Given the description of an element on the screen output the (x, y) to click on. 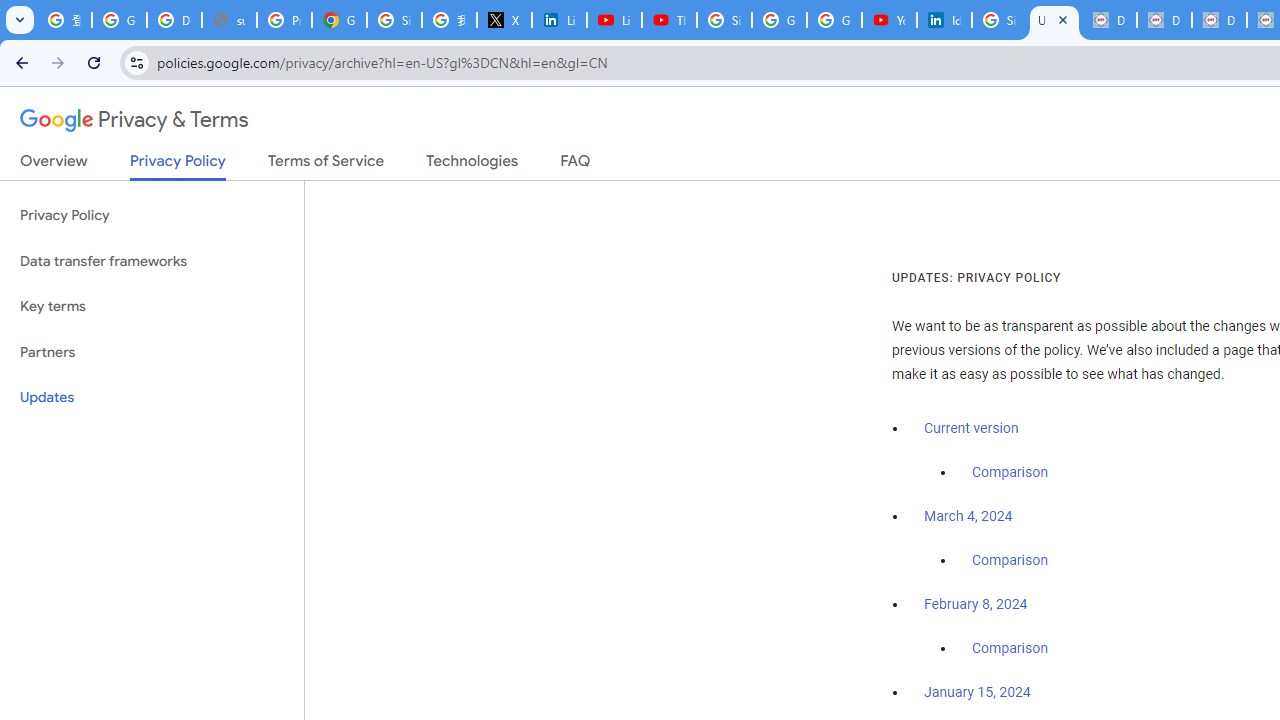
Partners (152, 352)
January 15, 2024 (977, 693)
Sign in - Google Accounts (394, 20)
Comparison (1009, 649)
March 4, 2024 (968, 517)
Privacy & Terms (134, 120)
Terms of Service (326, 165)
Sign in - Google Accounts (724, 20)
Data Privacy Framework (1108, 20)
